Given the description of an element on the screen output the (x, y) to click on. 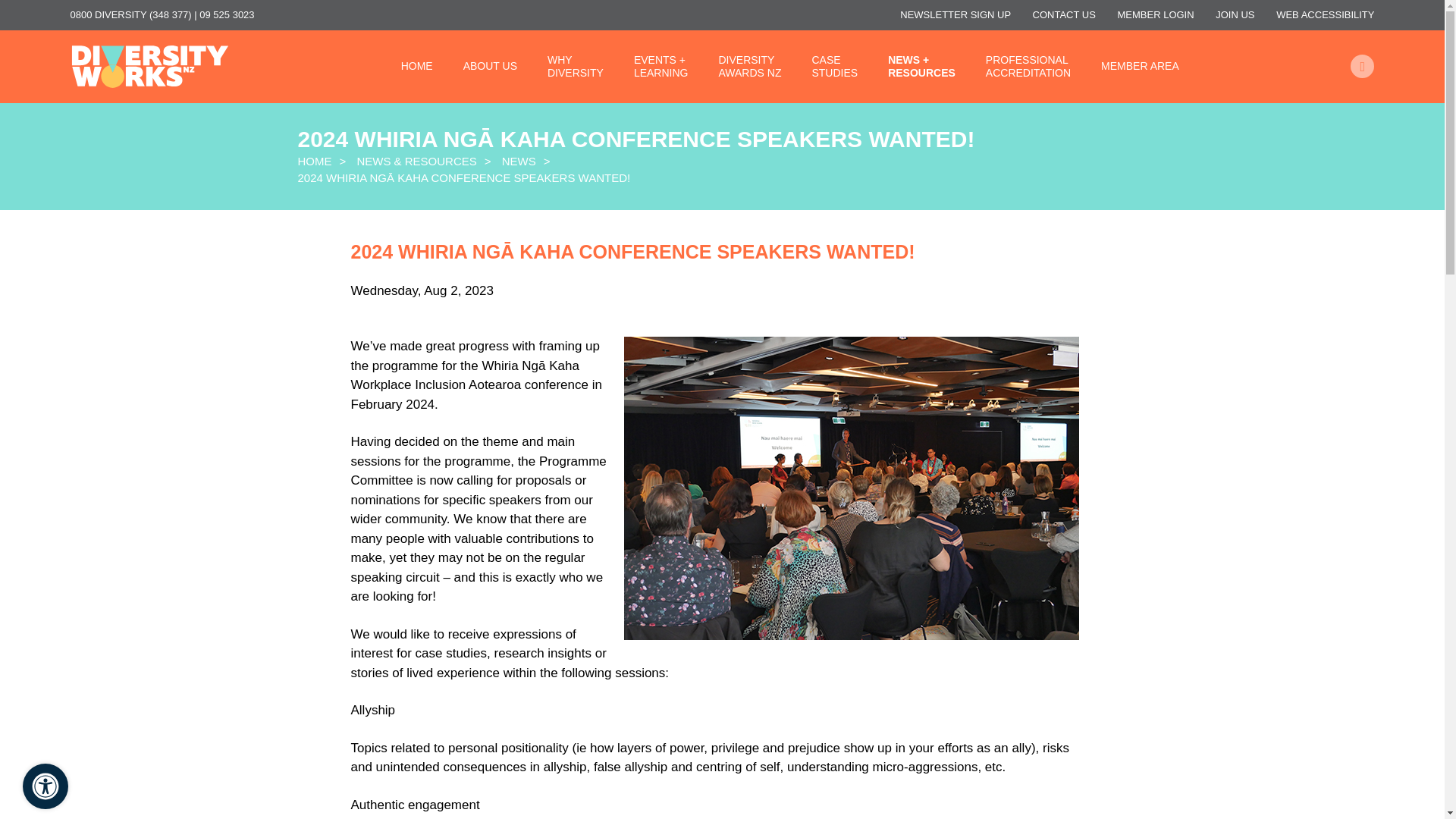
MEMBER LOGIN (1155, 14)
HOME (416, 65)
NEWSLETTER SIGN UP (954, 14)
CONTACT US (1064, 14)
WEB ACCESSIBILITY (1325, 14)
ABOUT US (575, 66)
JOIN US (489, 65)
